Given the description of an element on the screen output the (x, y) to click on. 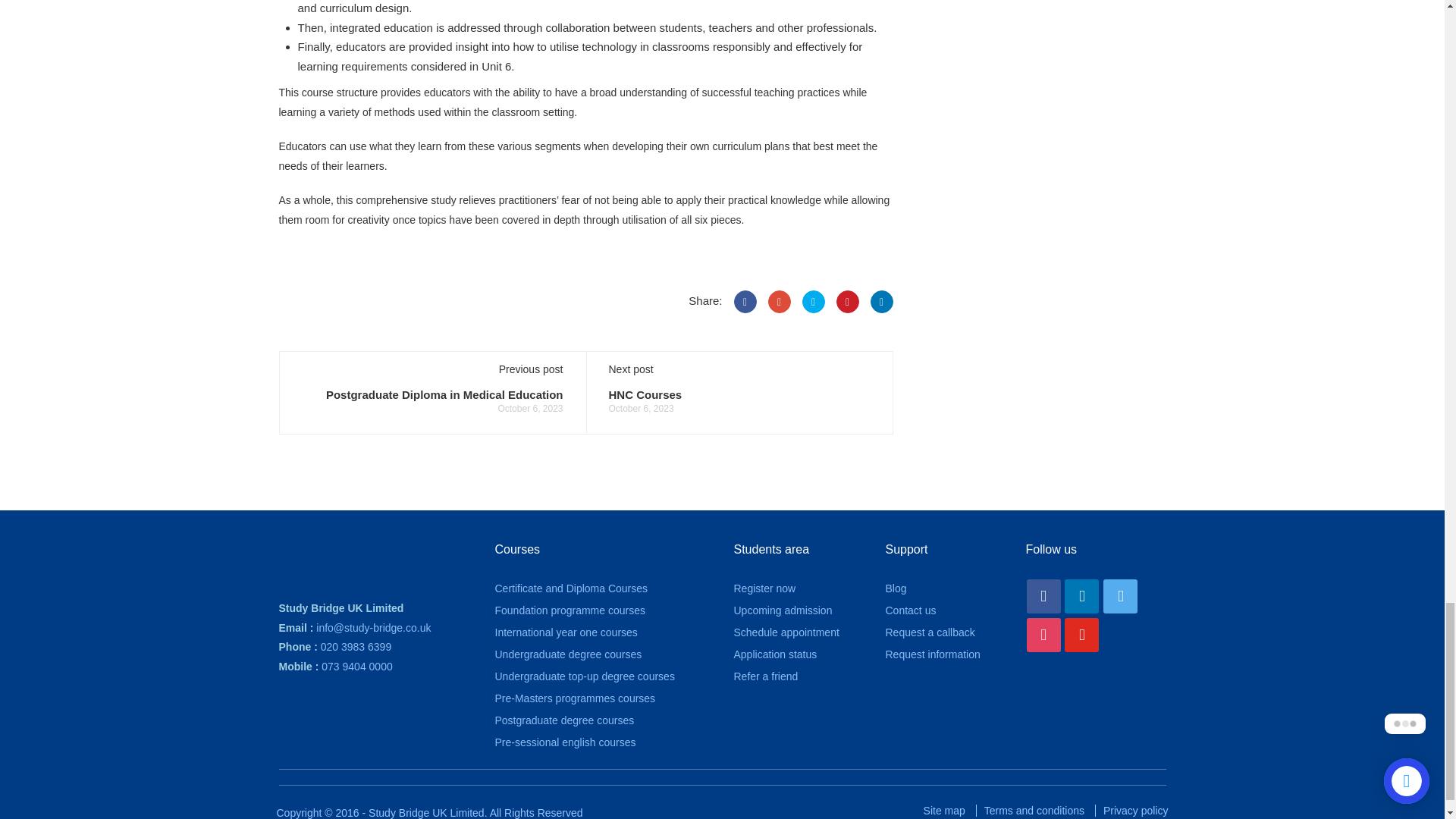
Linkedin (1081, 596)
Twitter (813, 301)
Facebook (1043, 596)
Twitter (1120, 596)
Facebook (745, 301)
Google Plus (778, 301)
Pinterest (847, 301)
Default Label (1043, 634)
